Given the description of an element on the screen output the (x, y) to click on. 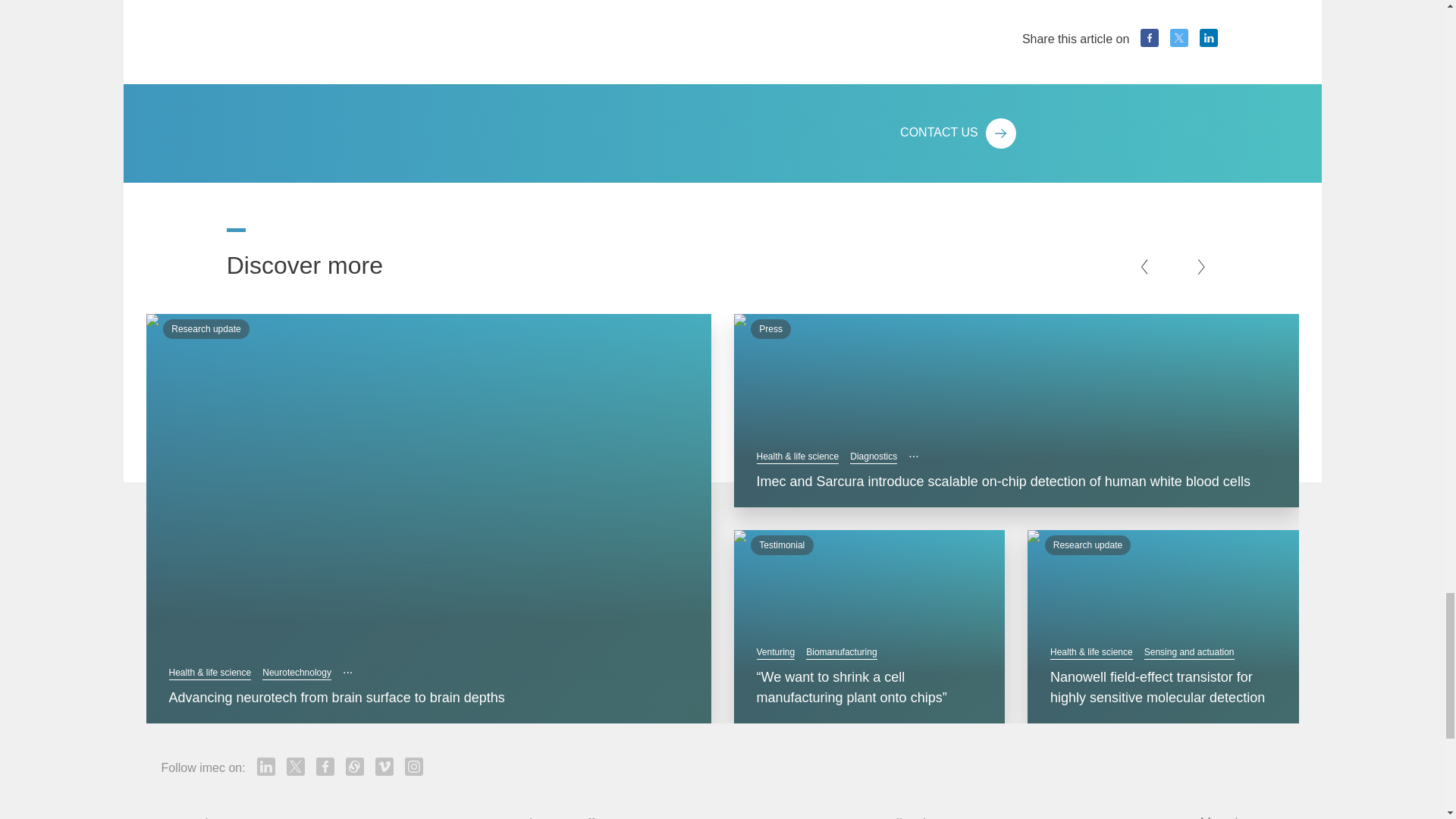
Swivle (355, 766)
Sensing and actuation (1189, 652)
LinkedIn (1208, 37)
CONTACT US (1058, 132)
Venturing (775, 652)
Vimeo (384, 766)
Biomanufacturing (841, 652)
Advancing neurotech from brain surface to brain depths (427, 697)
Discover more (310, 255)
Facebook (1149, 37)
X (1179, 37)
Neurotechnology (296, 672)
Diagnostics (873, 456)
